Given the description of an element on the screen output the (x, y) to click on. 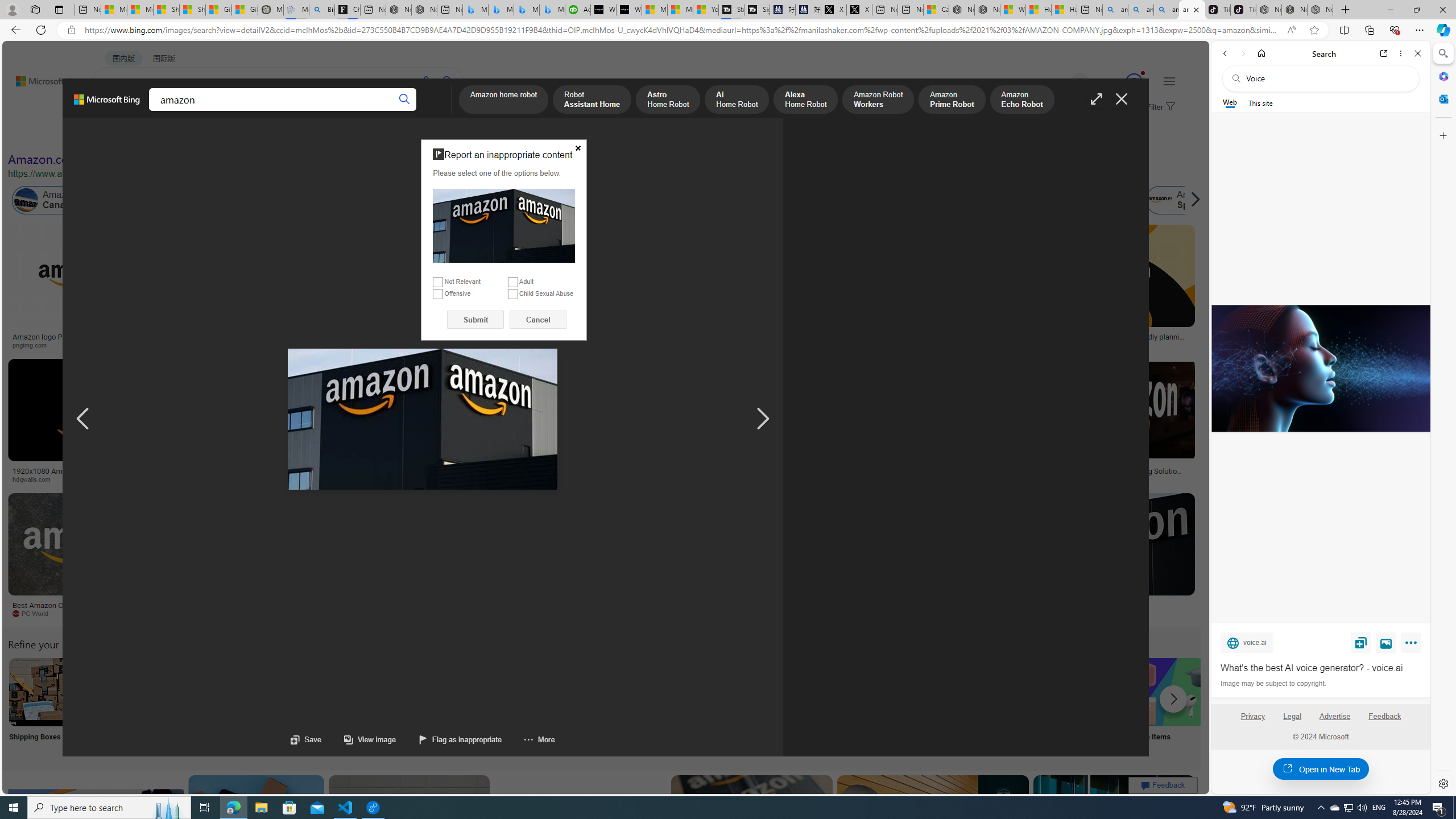
Amazon Prime Shopping Online (944, 691)
Robot Assistant Home (592, 100)
pngimg.com (34, 344)
Dallas Morning News (791, 479)
WEB (114, 111)
PC World (34, 612)
ACADEMIC (311, 111)
